Given the description of an element on the screen output the (x, y) to click on. 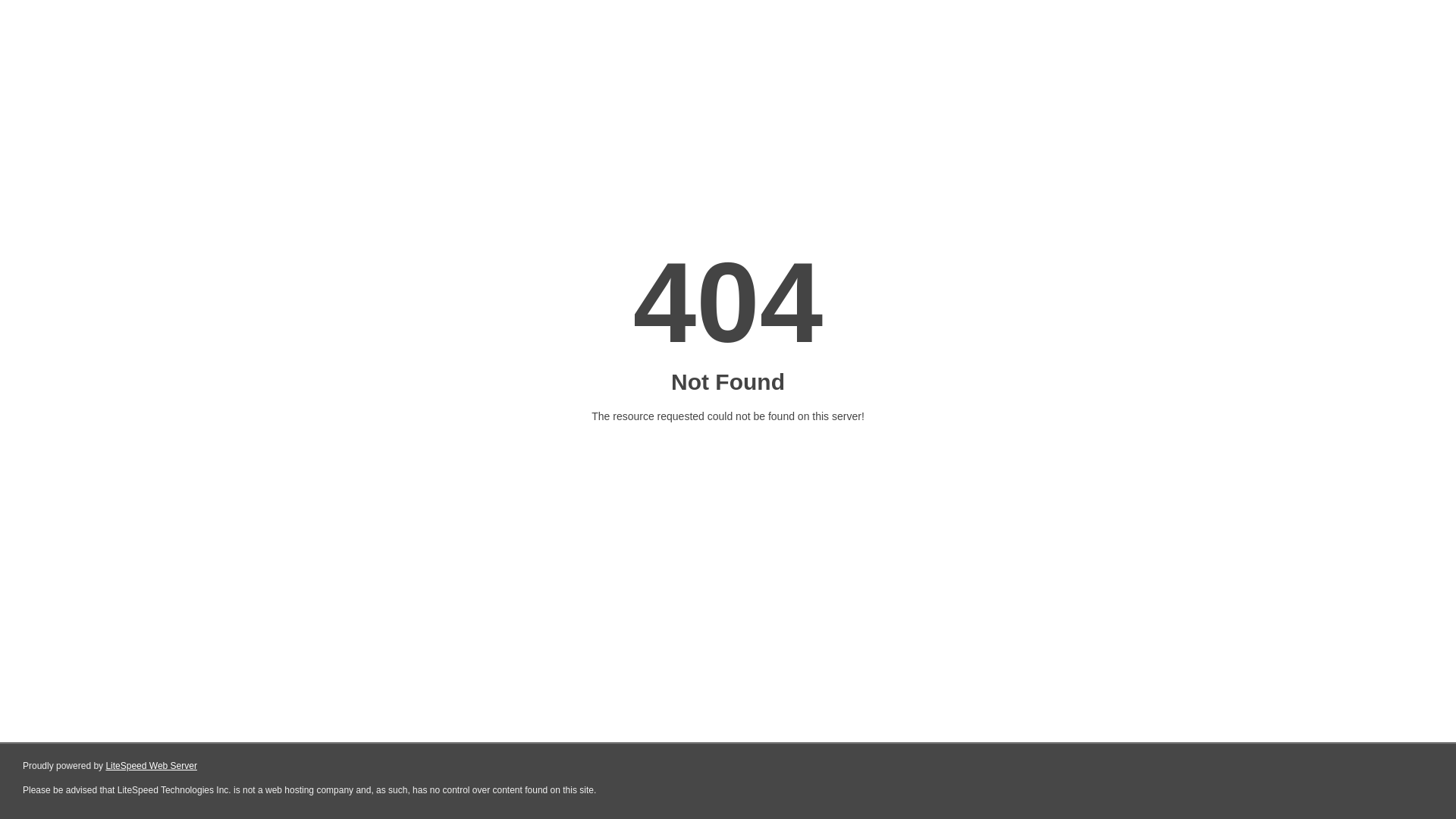
LiteSpeed Web Server Element type: text (151, 765)
